Given the description of an element on the screen output the (x, y) to click on. 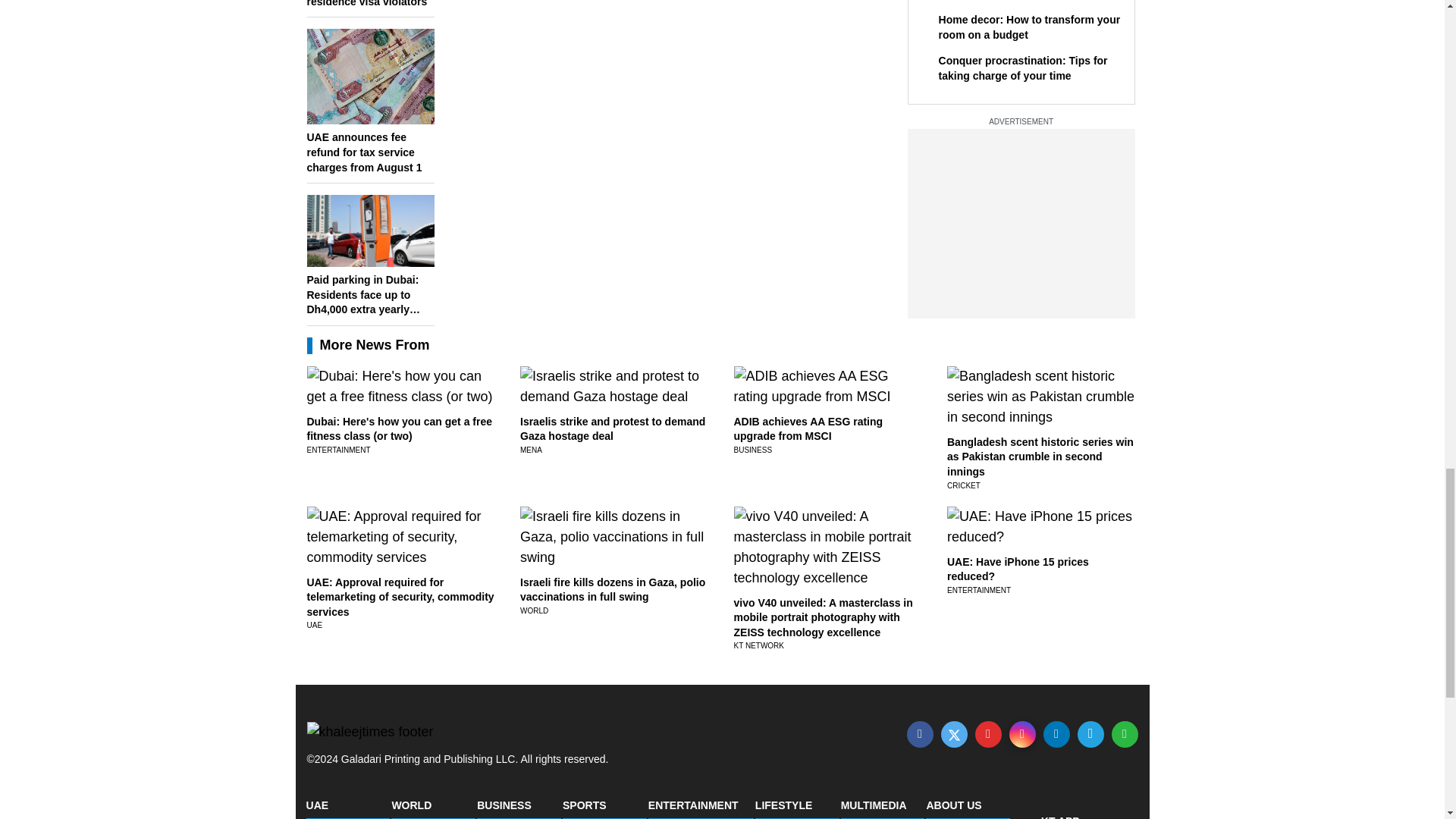
Israelis strike and protest to demand Gaza hostage deal (611, 429)
UAE: Have iPhone 15 prices reduced? (1018, 569)
ADIB achieves AA ESG rating upgrade from MSCI (808, 429)
